Given the description of an element on the screen output the (x, y) to click on. 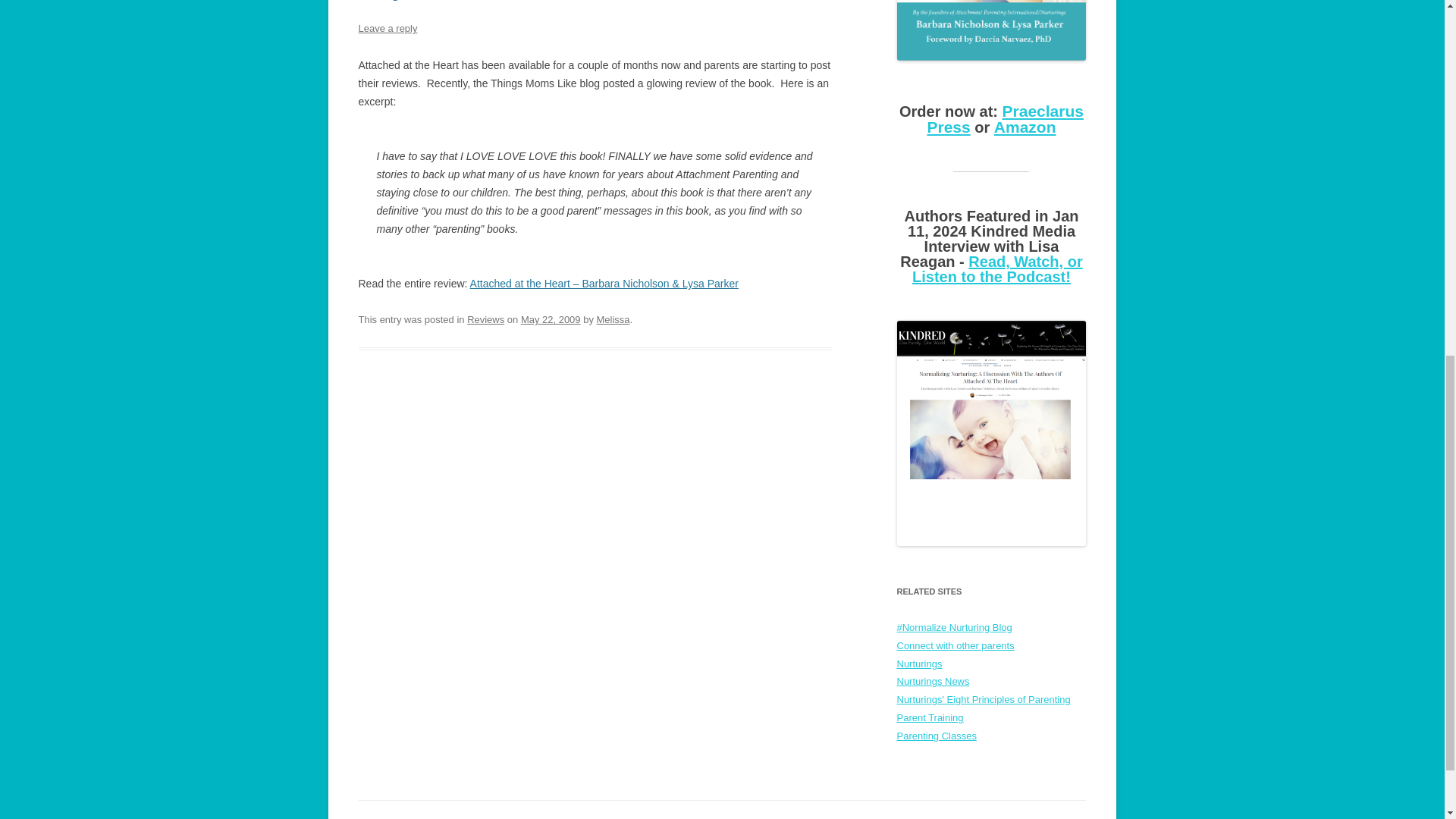
Melissa (611, 319)
May 22, 2009 (550, 319)
View all posts by Melissa (611, 319)
Nurturings' Eight Principles of Parenting (983, 699)
Parenting Classes (935, 736)
Leave a reply (387, 28)
12:12 am (550, 319)
Praeclarus Press (1004, 118)
Nurturings (919, 663)
Connect with other parents (954, 645)
